Given the description of an element on the screen output the (x, y) to click on. 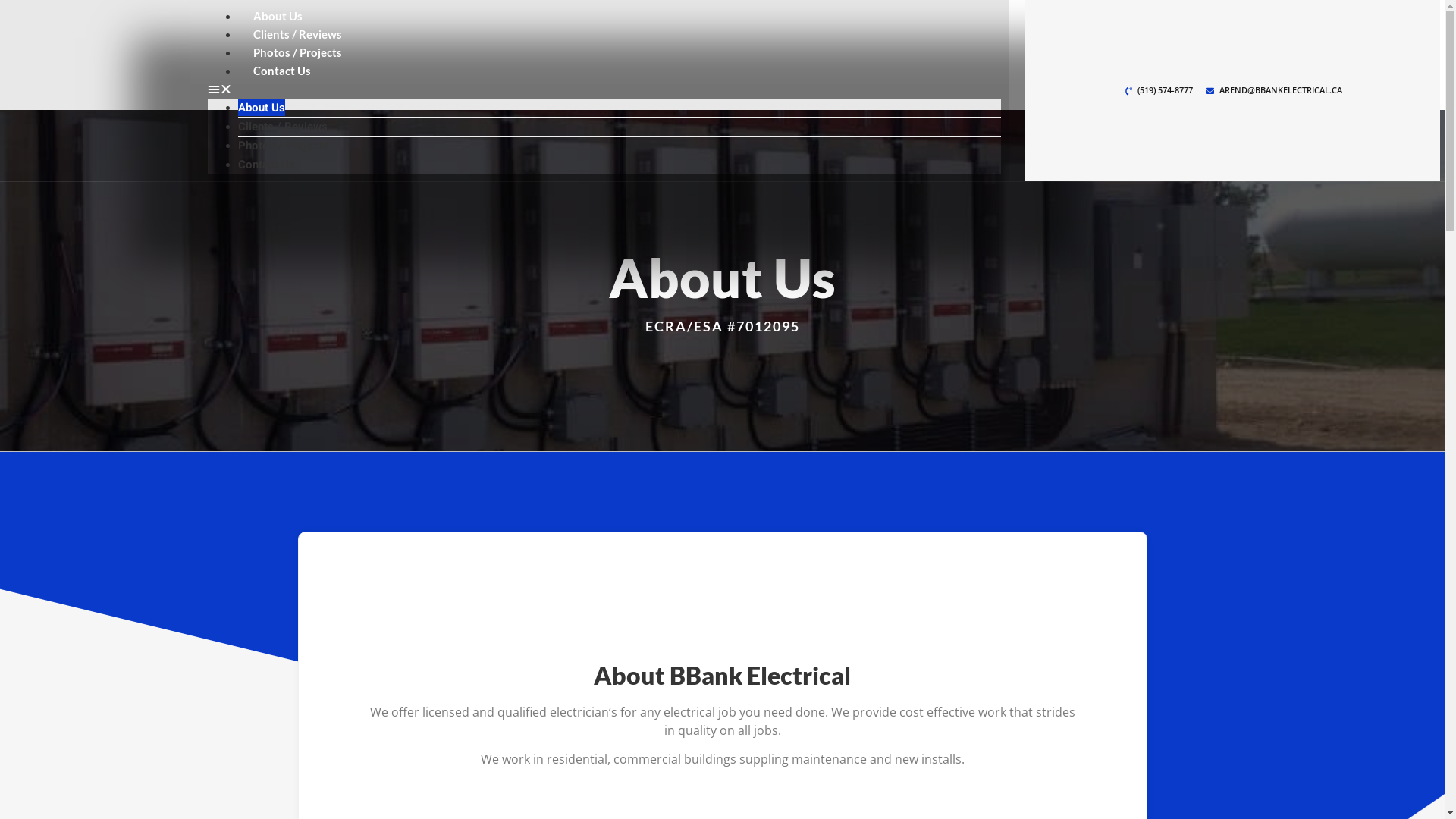
About Us Element type: text (277, 15)
Photos / Projects Element type: text (283, 145)
Clients / Reviews Element type: text (297, 33)
AREND@BBANKELECTRICAL.CA Element type: text (1273, 90)
Clients / Reviews Element type: text (282, 126)
Contact Us Element type: text (282, 70)
Contact Us Element type: text (266, 164)
(519) 574-8777 Element type: text (1157, 90)
About Us Element type: text (261, 107)
Photos / Projects Element type: text (297, 52)
